Given the description of an element on the screen output the (x, y) to click on. 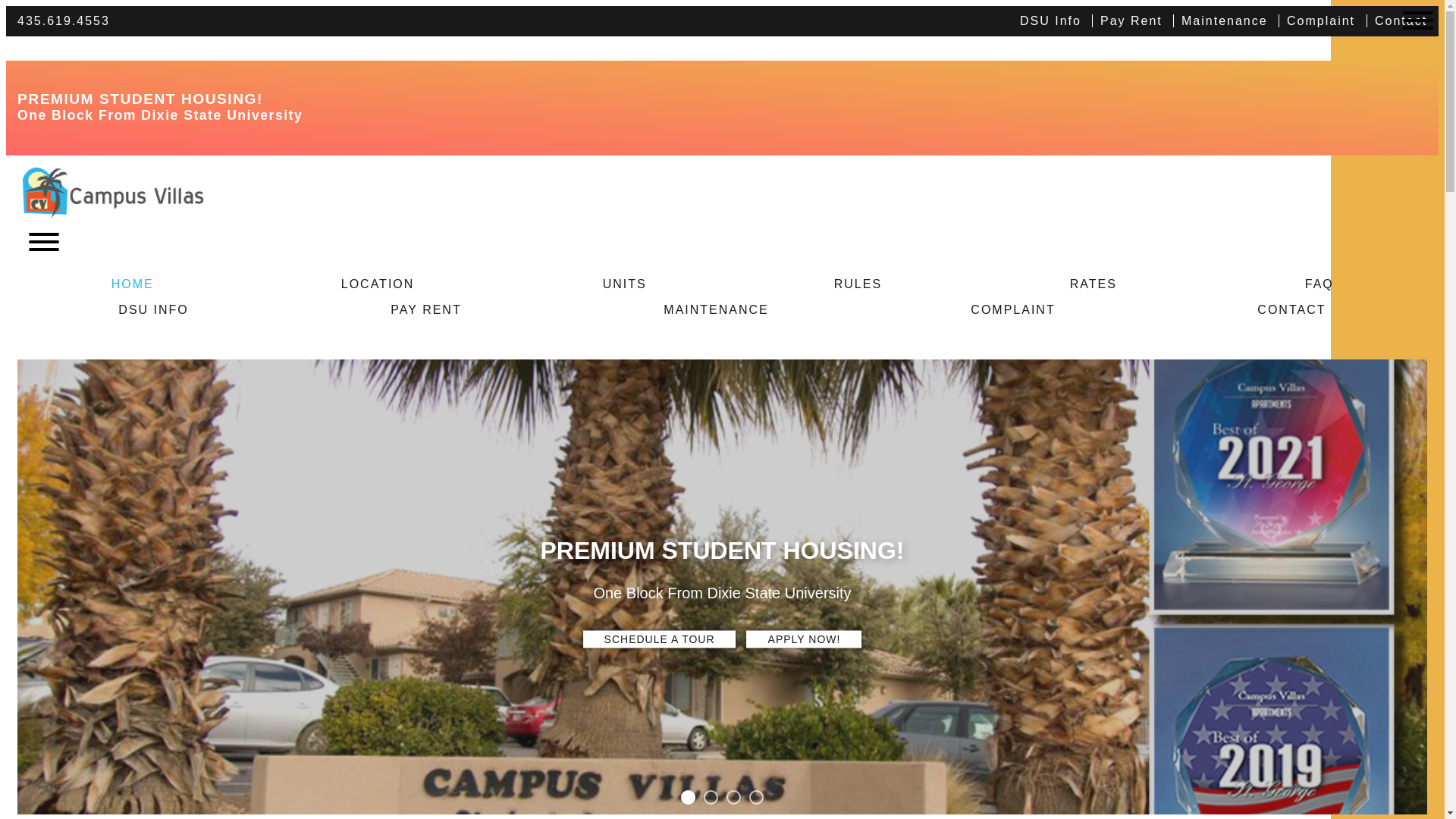
1 (688, 796)
PAY RENT (425, 309)
DSU Info (1054, 20)
UNITS (623, 284)
4 (755, 796)
DSU INFO (153, 309)
RATES (1093, 284)
LOCATION (377, 284)
Maintenance (1224, 20)
Complaint (1320, 20)
2 (710, 796)
SCHEDULE A TOUR (659, 639)
HOME (132, 284)
APPLY NOW! (803, 639)
CONTACT (1291, 309)
